Given the description of an element on the screen output the (x, y) to click on. 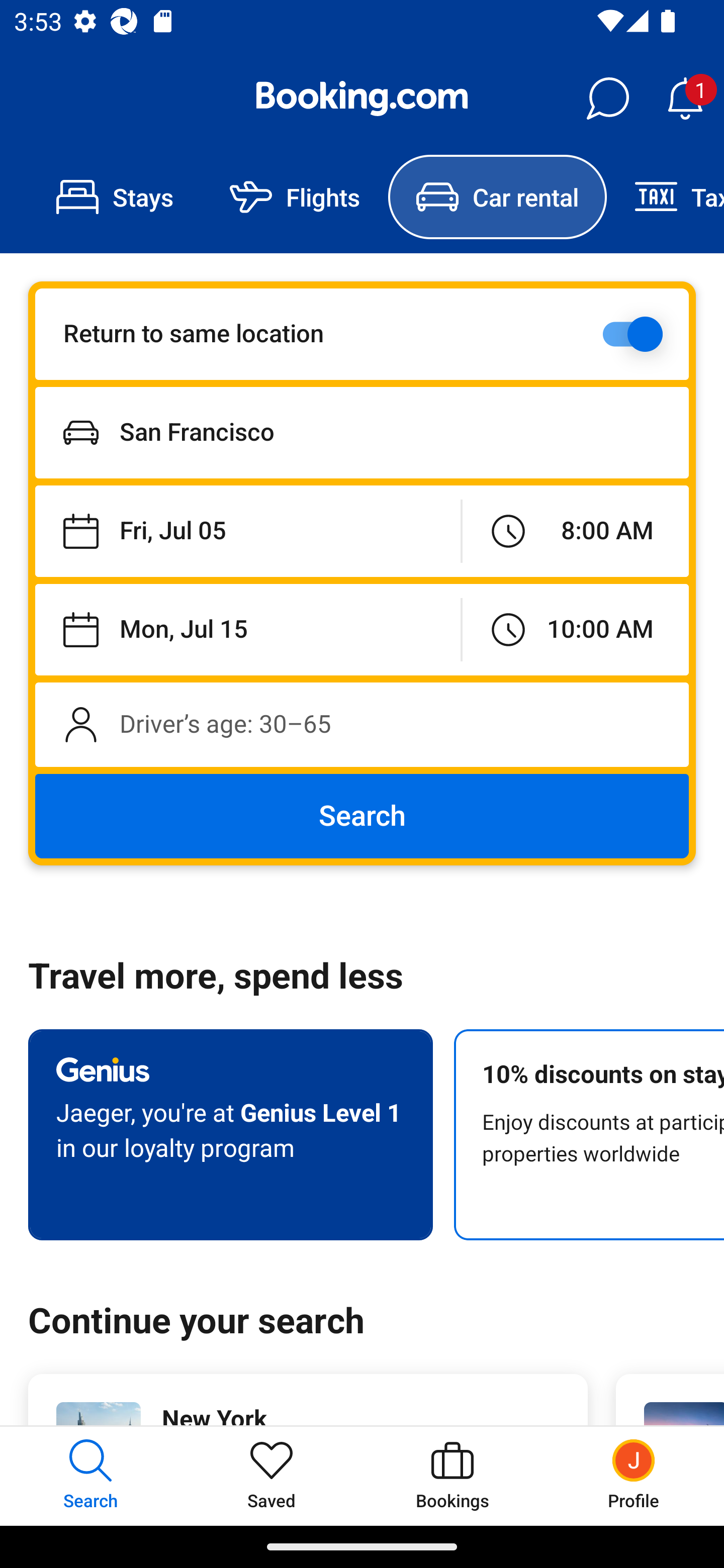
Messages (607, 98)
Notifications (685, 98)
Stays (114, 197)
Flights (294, 197)
Car rental (497, 197)
Taxi (665, 197)
Pick-up location: Text(name=San Francisco) (361, 432)
Pick-up date: 2024-07-05 (247, 531)
Pick-up time: 08:00:00.000 (575, 531)
Drop-off date: 2024-07-15 (247, 629)
Drop-off time: 10:00:00.000 (575, 629)
Enter the driver's age (361, 724)
Search (361, 815)
Saved (271, 1475)
Bookings (452, 1475)
Profile (633, 1475)
